Given the description of an element on the screen output the (x, y) to click on. 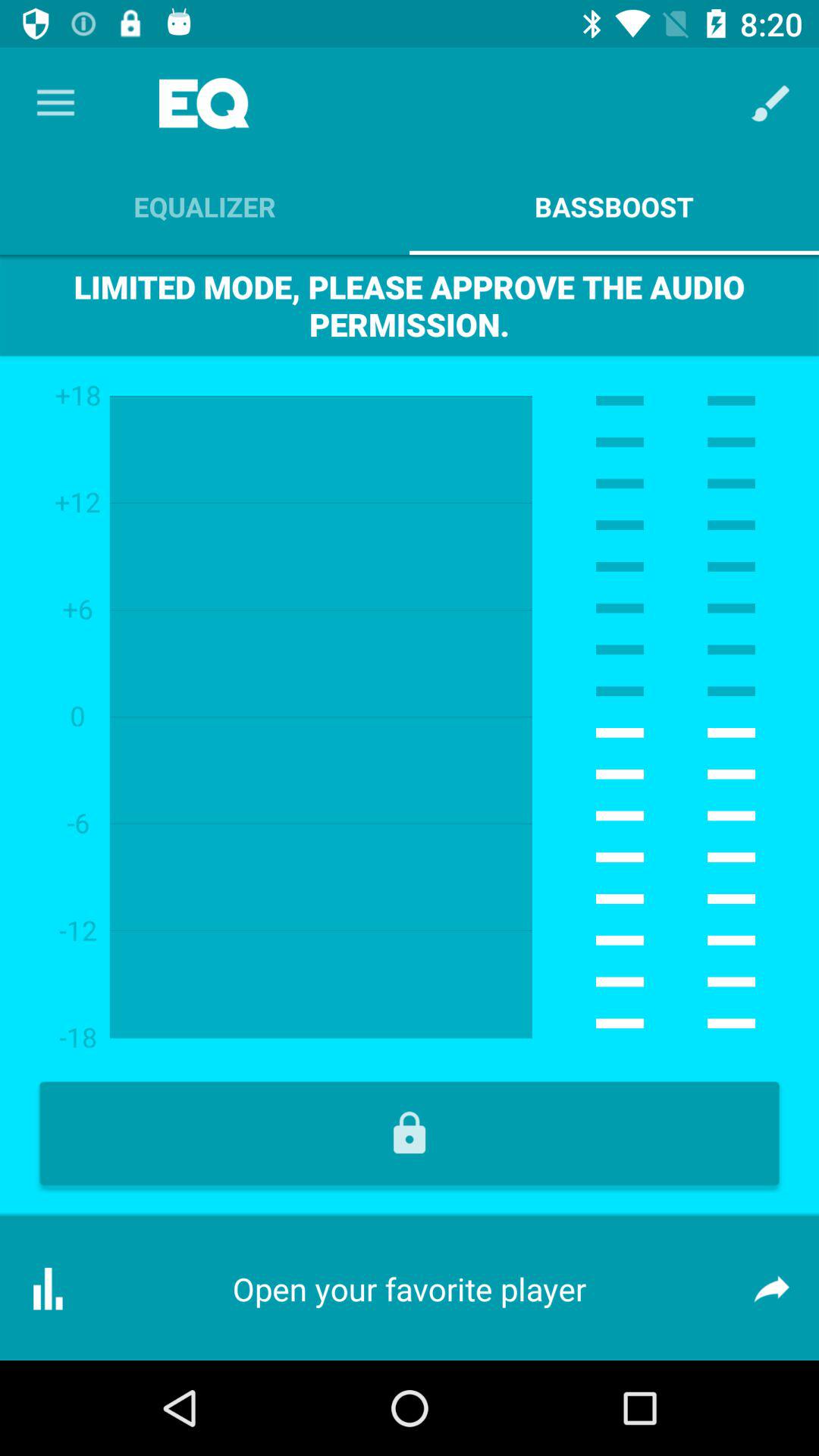
click to lock (409, 1133)
